Given the description of an element on the screen output the (x, y) to click on. 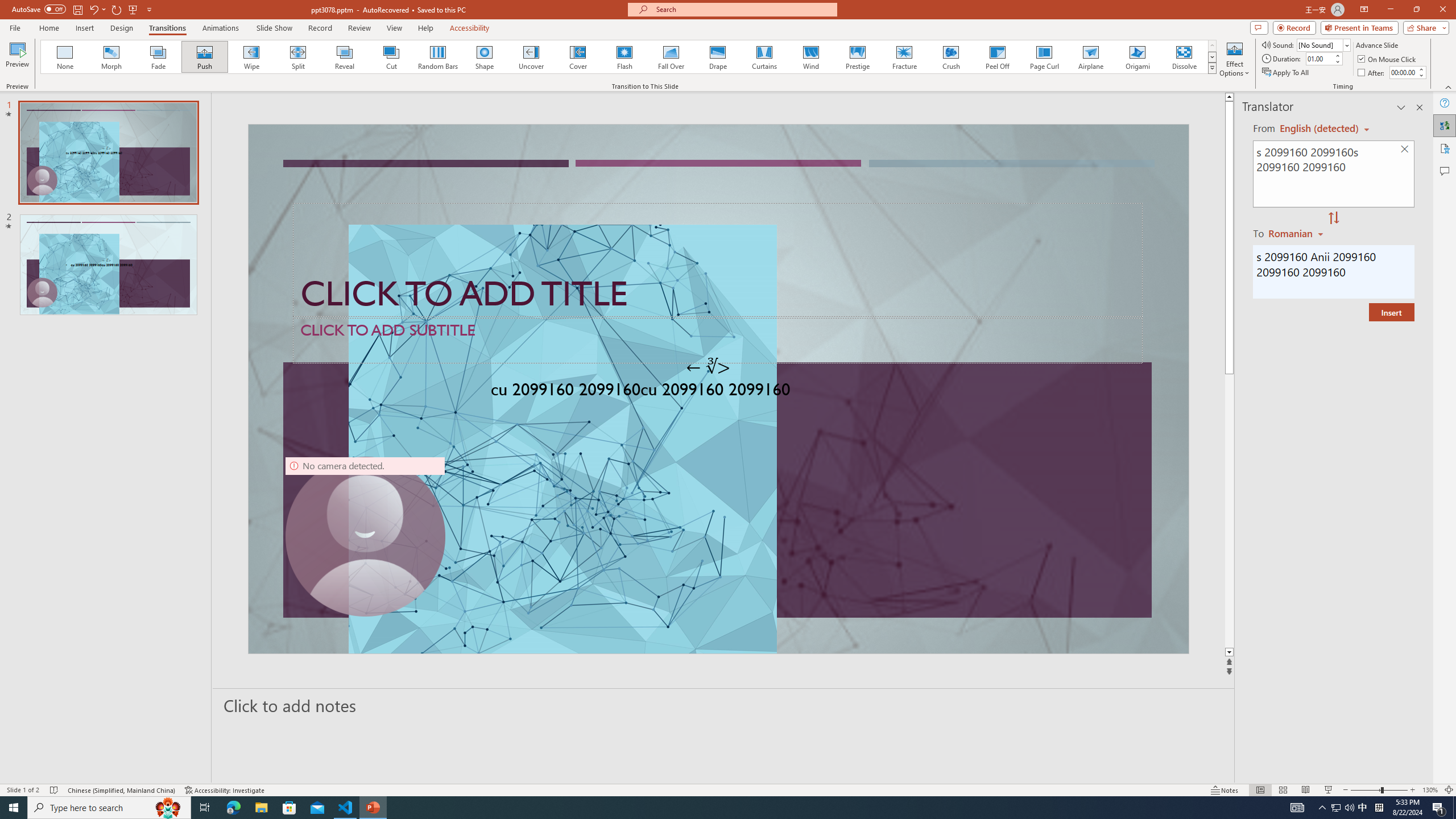
Effect Options (1234, 58)
Transition Effects (1212, 67)
Wipe (251, 56)
None (65, 56)
